Given the description of an element on the screen output the (x, y) to click on. 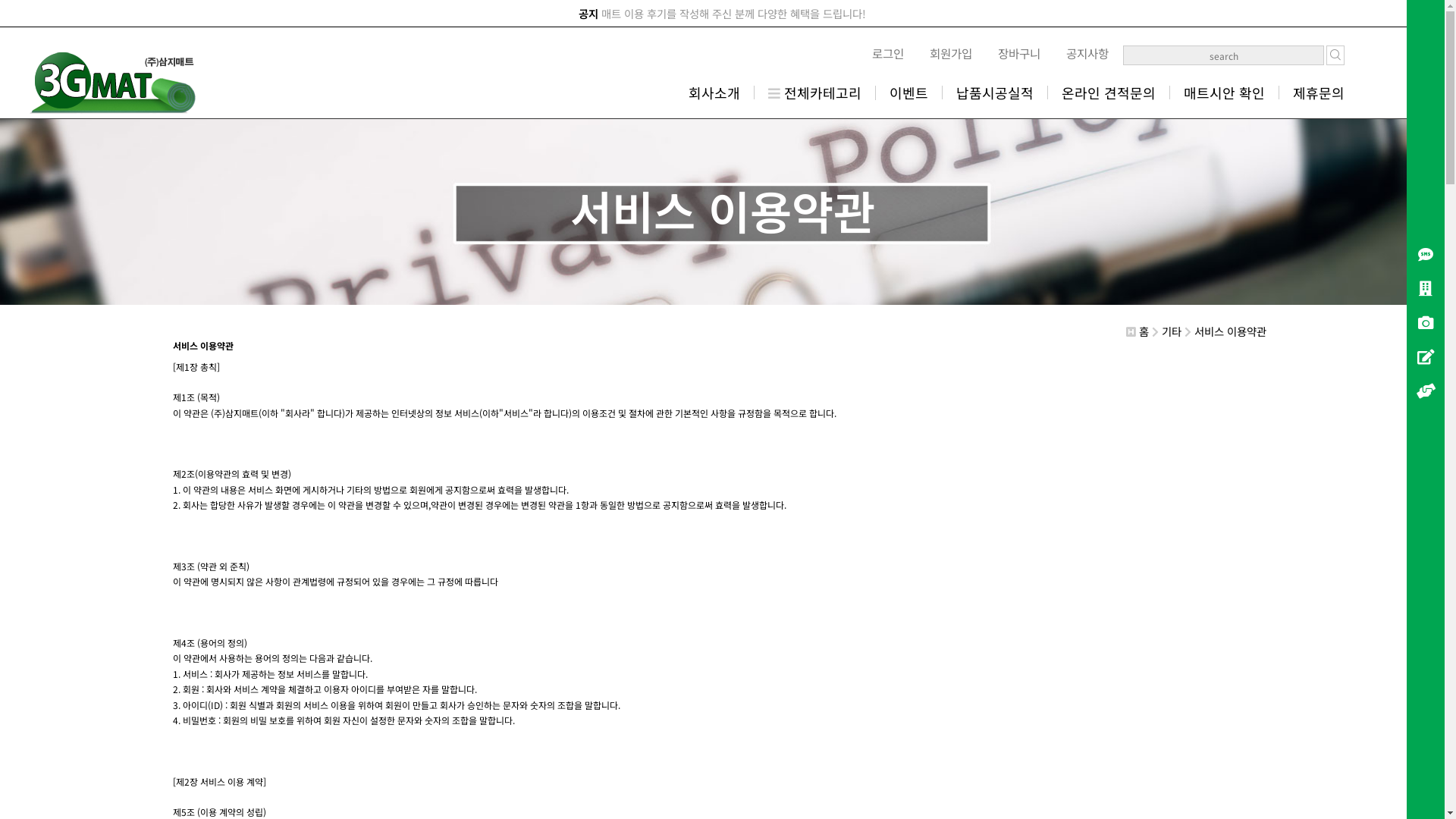
0 Element type: text (1425, 290)
0 Element type: text (1425, 358)
0 Element type: text (1425, 255)
0 Element type: text (1425, 392)
0 Element type: text (1425, 324)
